Given the description of an element on the screen output the (x, y) to click on. 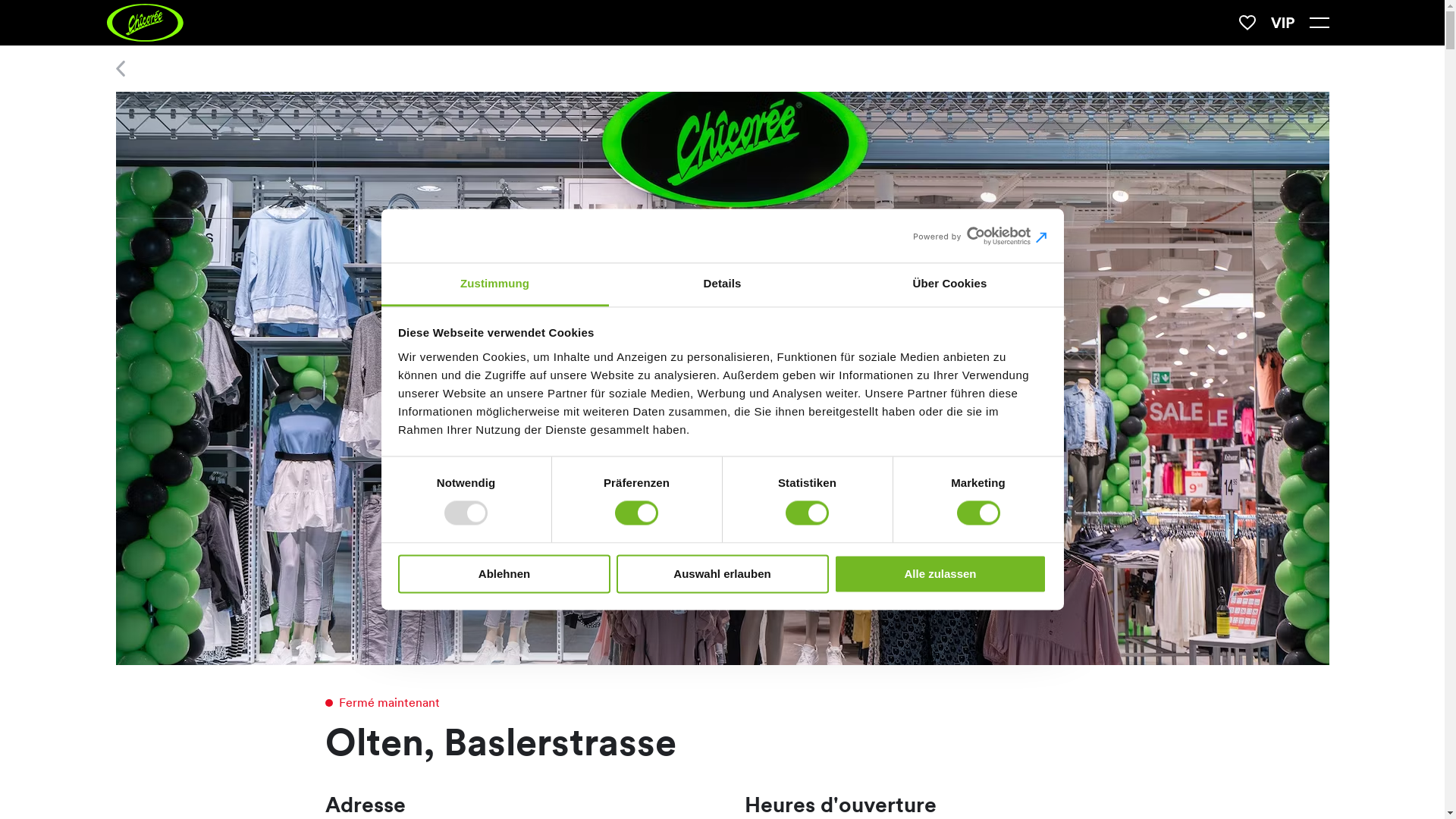
Ablehnen Element type: text (504, 573)
Alle zulassen Element type: text (940, 573)
Zustimmung Element type: text (494, 284)
Details Element type: text (721, 284)
Auswahl erlauben Element type: text (721, 573)
